Given the description of an element on the screen output the (x, y) to click on. 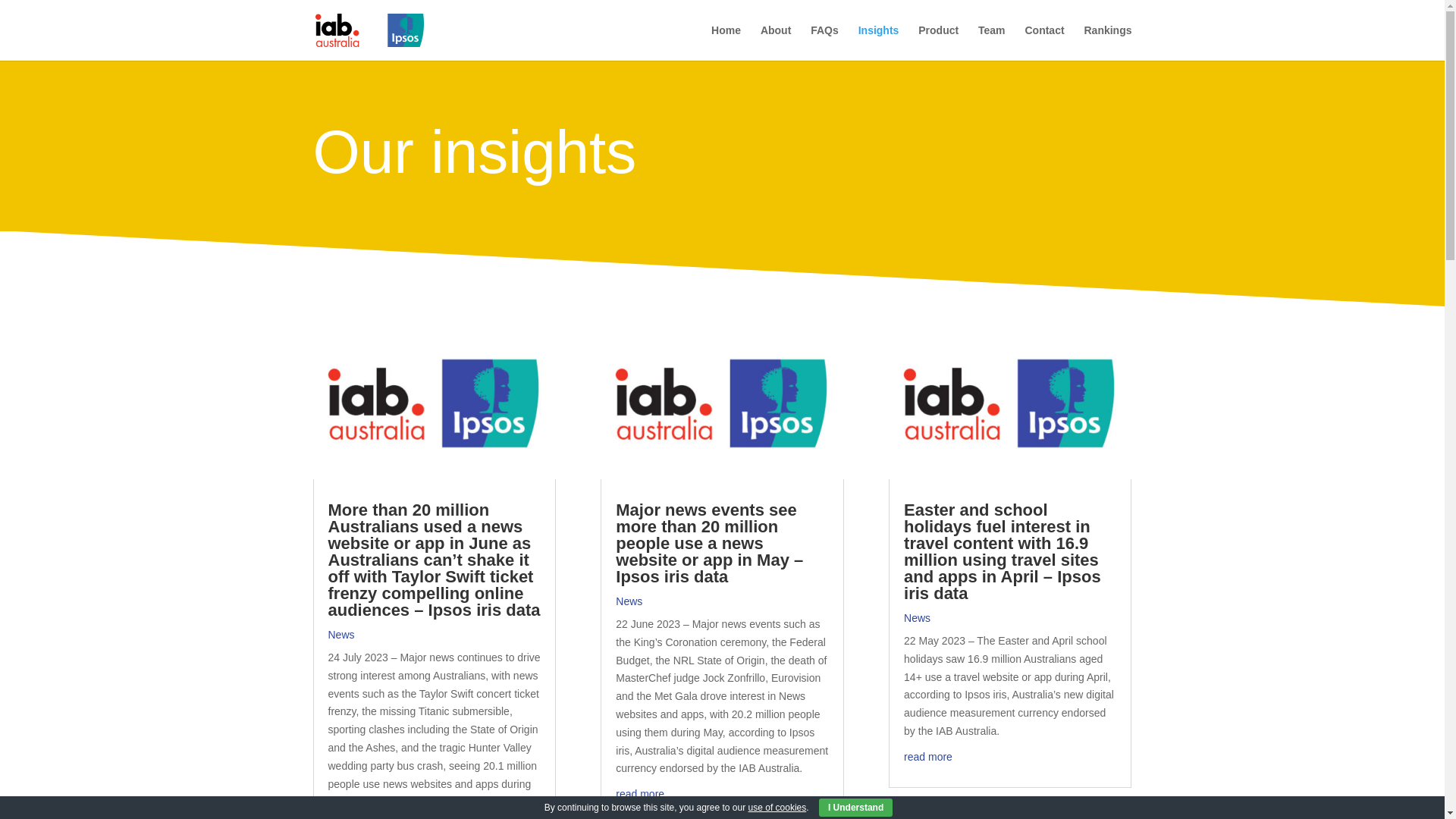
Product (938, 42)
read more (639, 793)
News (628, 601)
Contact (1044, 42)
Insights (879, 42)
News (340, 634)
Rankings (1107, 42)
